Given the description of an element on the screen output the (x, y) to click on. 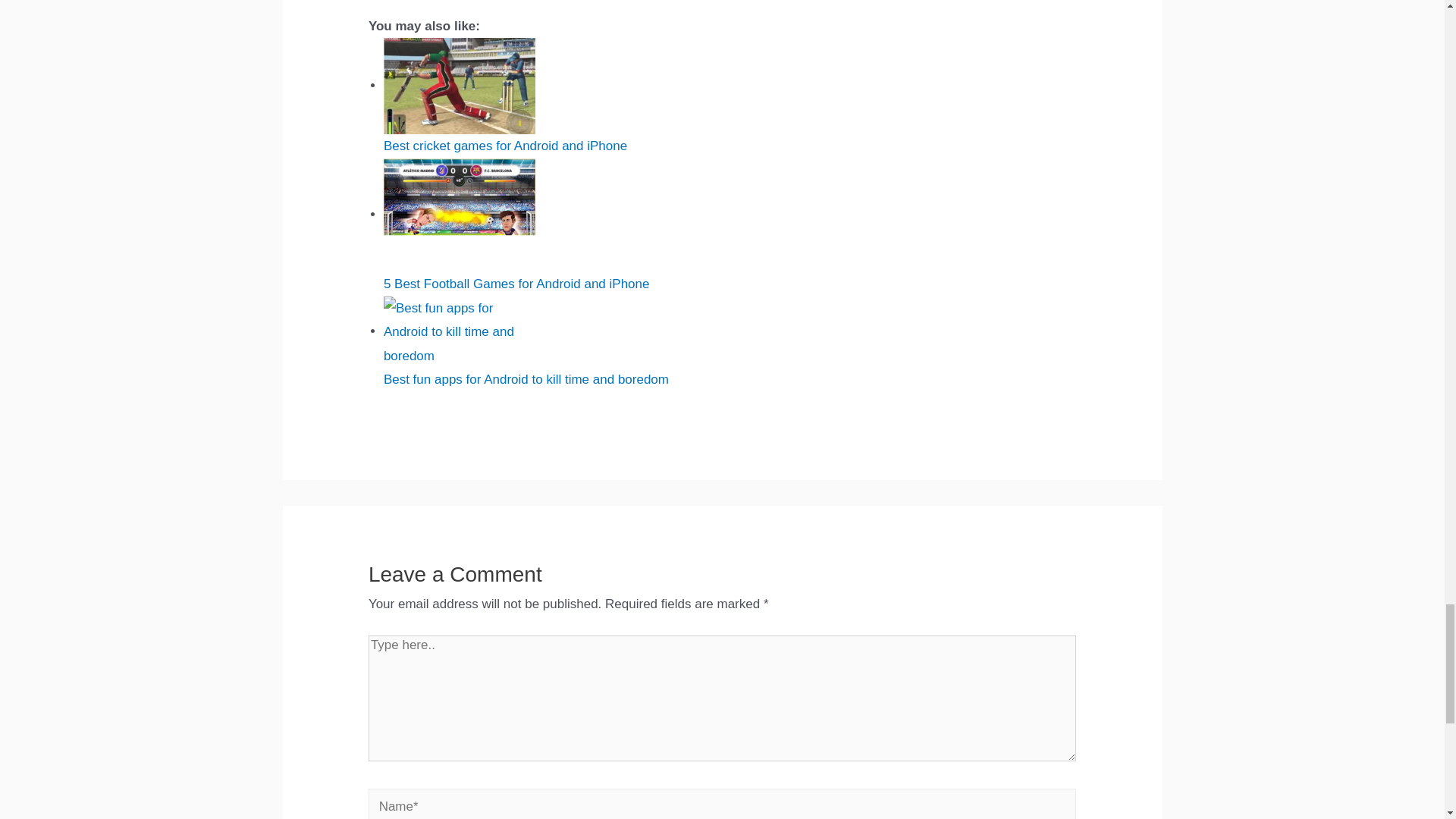
5 Best Football Games for Android and iPhone (459, 214)
Best cricket games for Android and iPhone (459, 85)
Best fun apps for Android to kill time and boredom (459, 332)
